Given the description of an element on the screen output the (x, y) to click on. 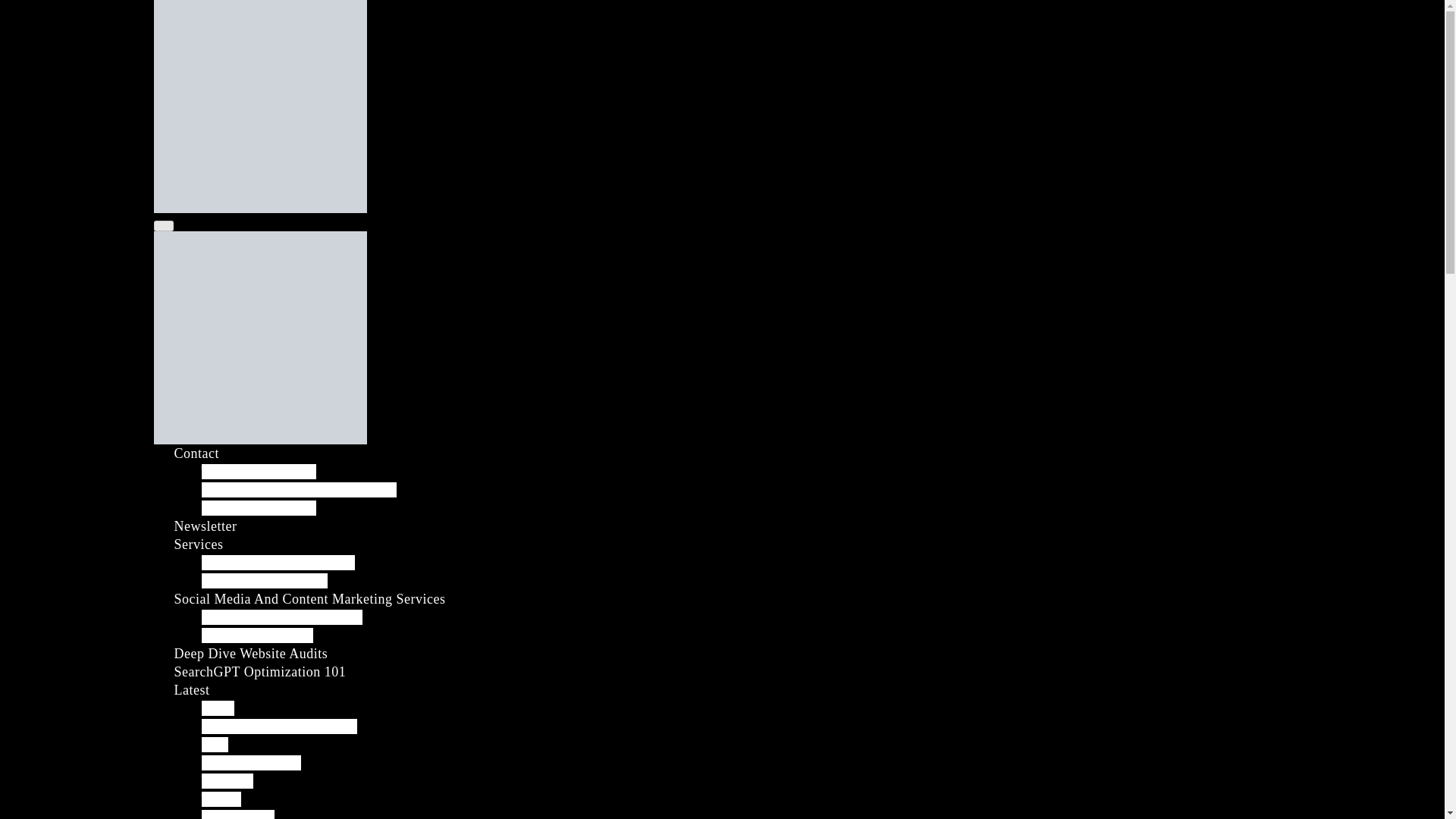
Newsletter (205, 525)
News (218, 708)
Copywriting Services (264, 580)
Copywriting Services (264, 580)
Services (199, 544)
Latest (191, 689)
Latest (191, 689)
Promotional Media (258, 635)
Traffic (221, 798)
Contact (196, 453)
